Given the description of an element on the screen output the (x, y) to click on. 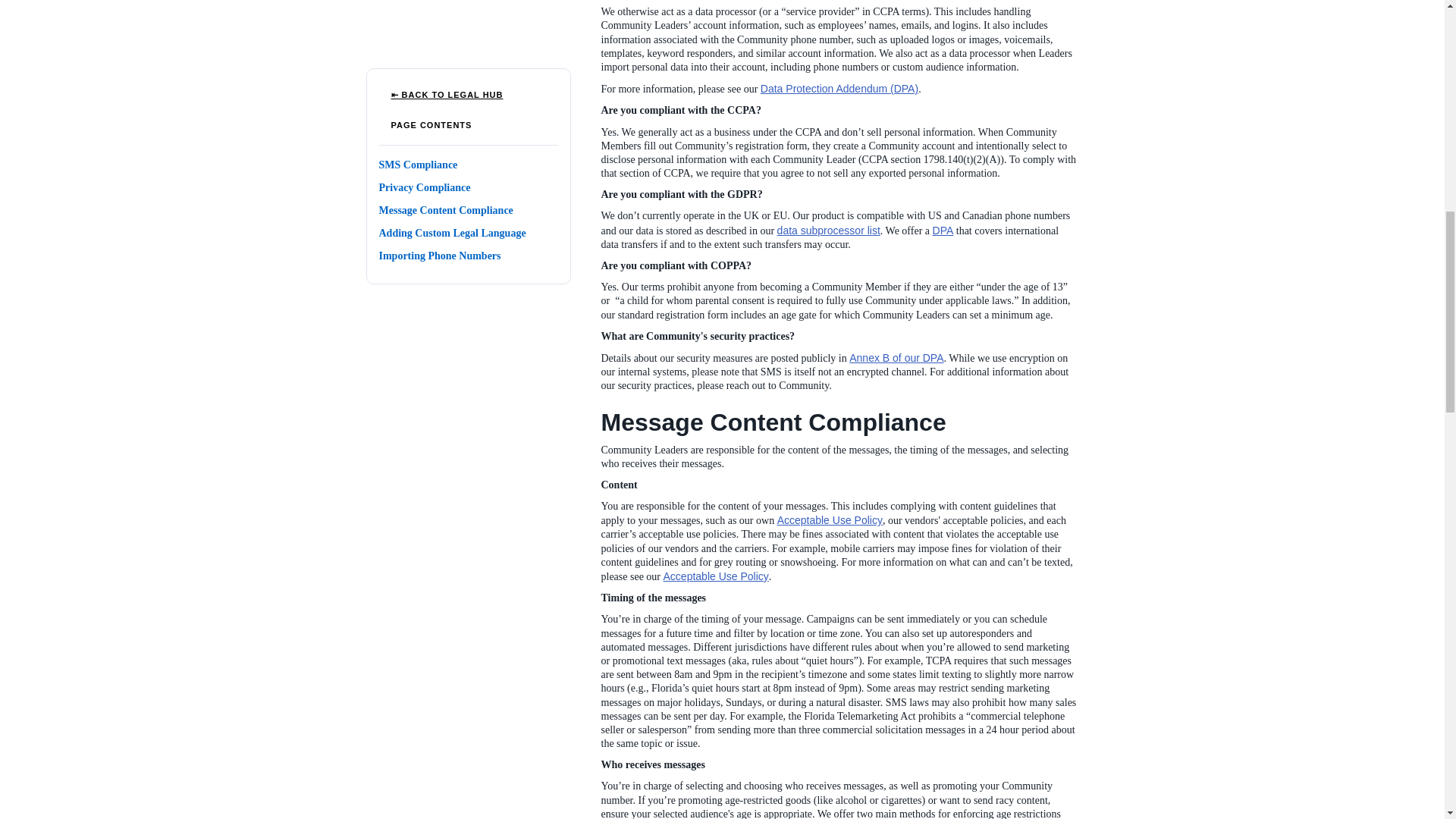
data subprocessor list (828, 230)
Acceptable Use Policy (829, 520)
DPA (943, 230)
Annex B of our DPA (895, 357)
